Given the description of an element on the screen output the (x, y) to click on. 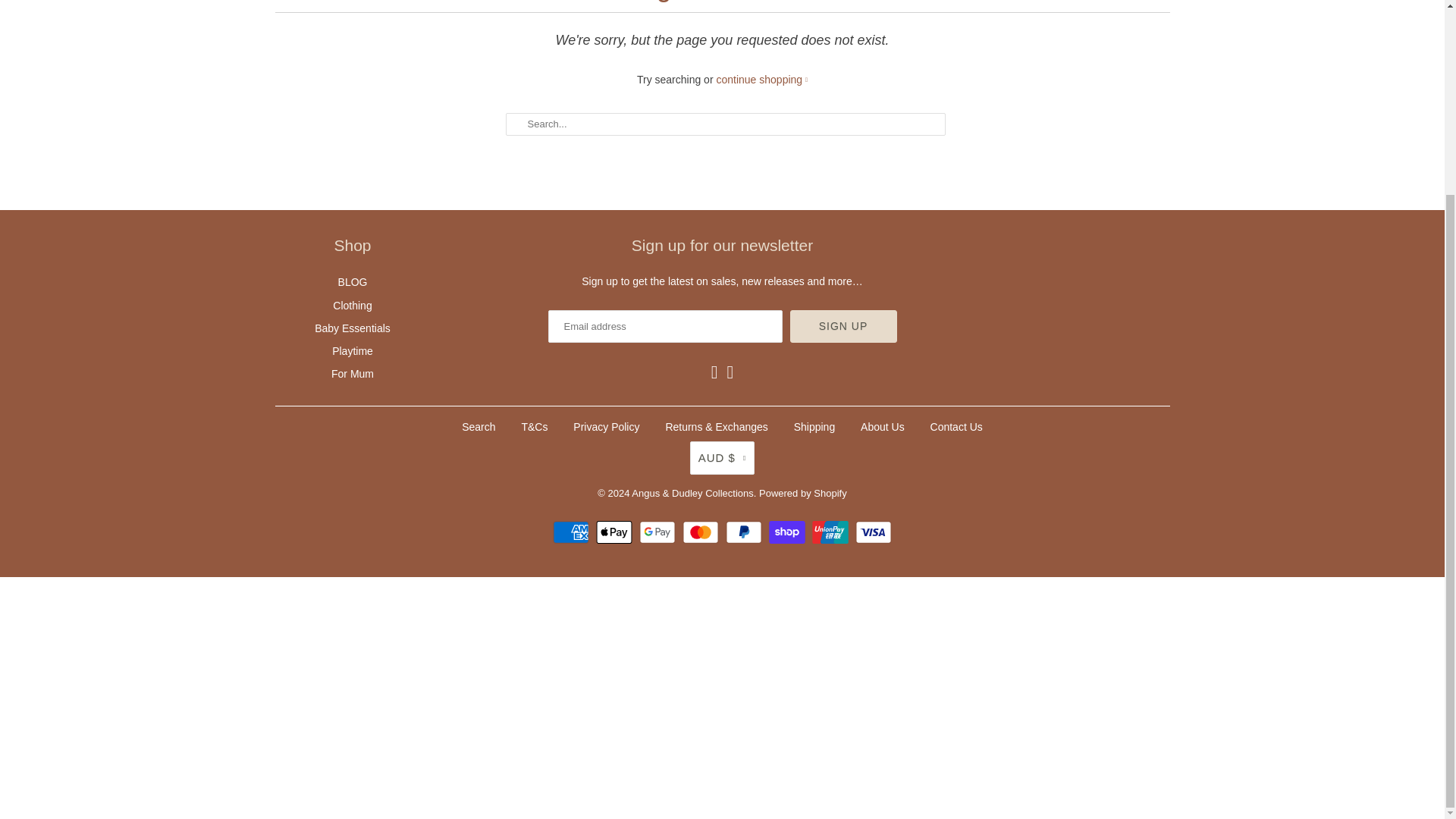
Apple Pay (615, 531)
Sign Up (843, 326)
Union Pay (831, 531)
Google Pay (659, 531)
Visa (873, 531)
Mastercard (702, 531)
PayPal (745, 531)
Shop Pay (788, 531)
American Express (572, 531)
